Given the description of an element on the screen output the (x, y) to click on. 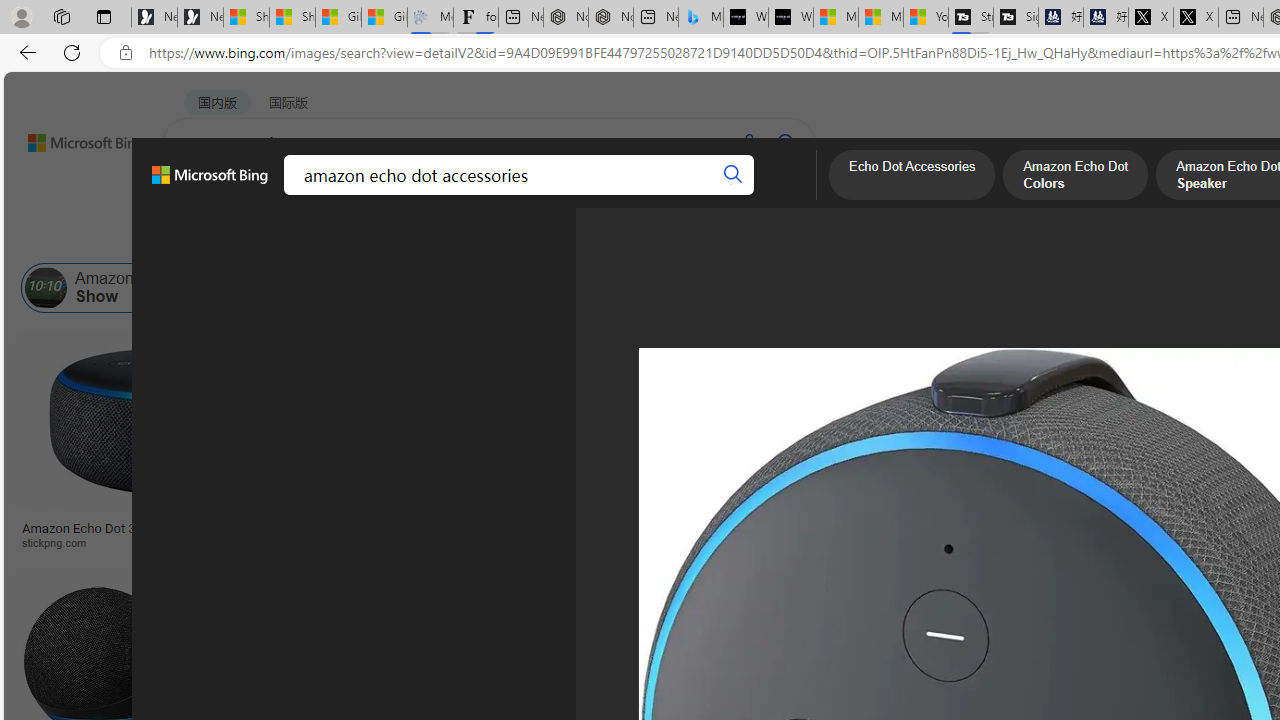
MAPS (698, 195)
Amazon Echo Show (45, 287)
Echo Dot Accessories (456, 287)
Echo Dot Accessories (397, 287)
Back to Bing search (73, 138)
Search (733, 174)
stickpng.herokuapp.com (614, 542)
Image size (221, 237)
Amazon Echo Dot with Clock (864, 287)
stickpng.com (1190, 542)
Shanghai, China weather forecast | Microsoft Weather (292, 17)
